Given the description of an element on the screen output the (x, y) to click on. 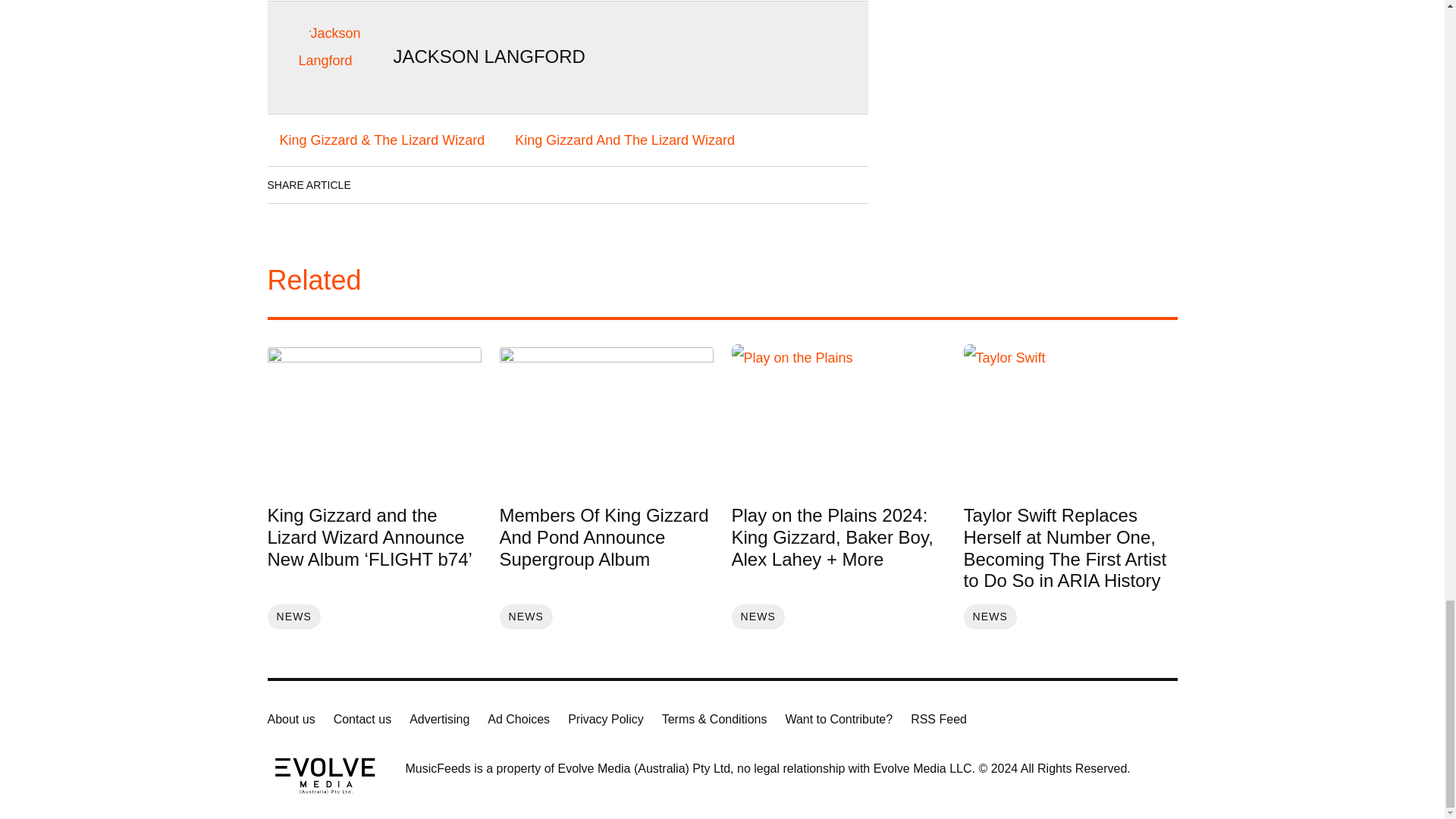
King Gizzard And The Lizard Wizard (624, 139)
Twitter (463, 184)
Facebook (377, 184)
LinkedIn (420, 184)
JACKSON LANGFORD (489, 55)
